Given the description of an element on the screen output the (x, y) to click on. 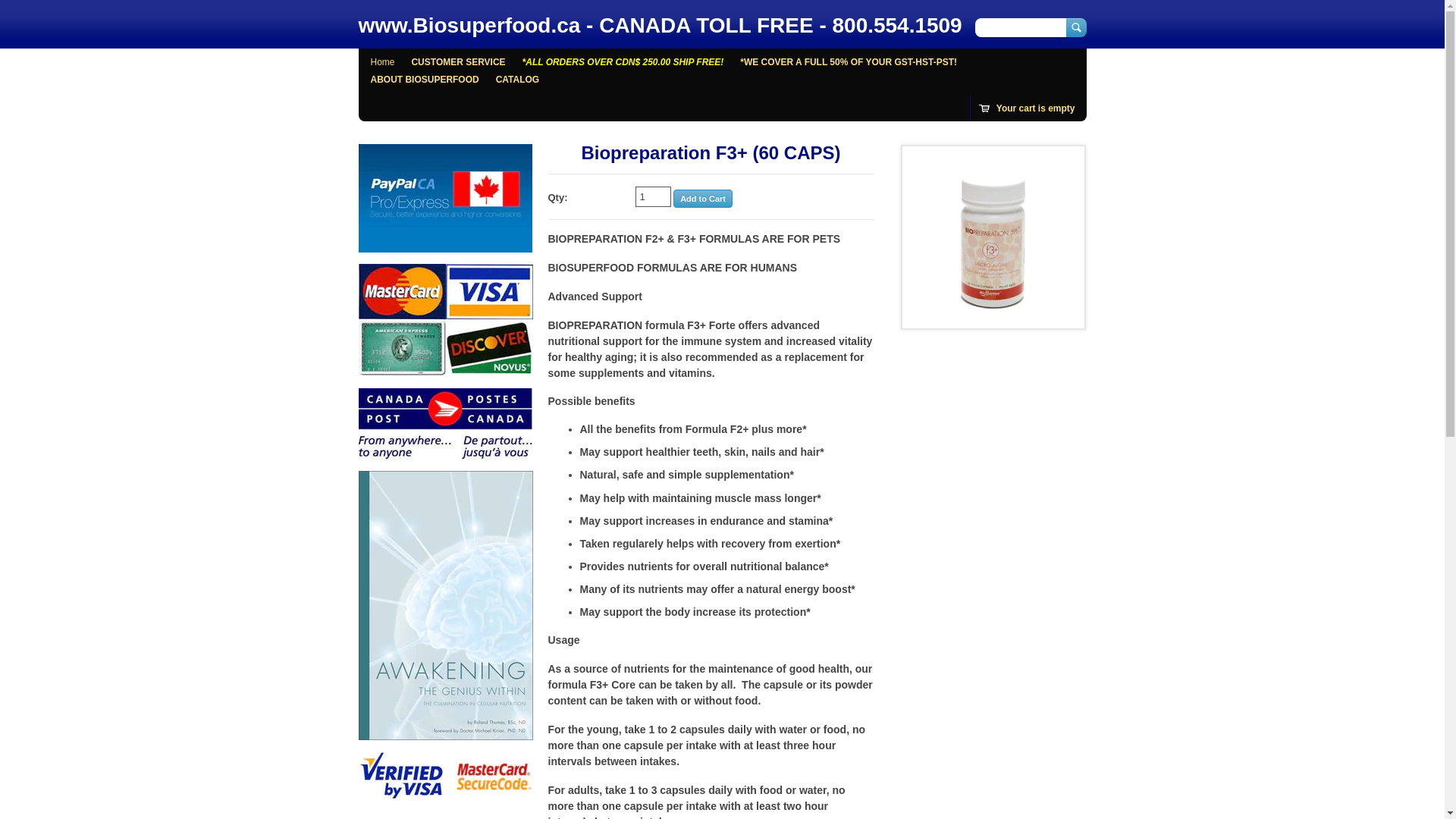
*WE COVER A FULL 50% OF YOUR GST-HST-PST! Element type: text (848, 62)
ABOUT BIOSUPERFOOD Element type: text (424, 79)
CATALOG Element type: text (517, 79)
Add to Cart Element type: text (702, 198)
*ALL ORDERS OVER CDN$ 250.00 SHIP FREE! Element type: text (622, 62)
Your cart is empty Element type: text (1028, 108)
Search Element type: text (1076, 27)
www.Biosuperfood.ca - CANADA TOLL FREE - 800.554.1509 Element type: text (659, 25)
Home Element type: text (381, 62)
CUSTOMER SERVICE Element type: text (457, 62)
